Given the description of an element on the screen output the (x, y) to click on. 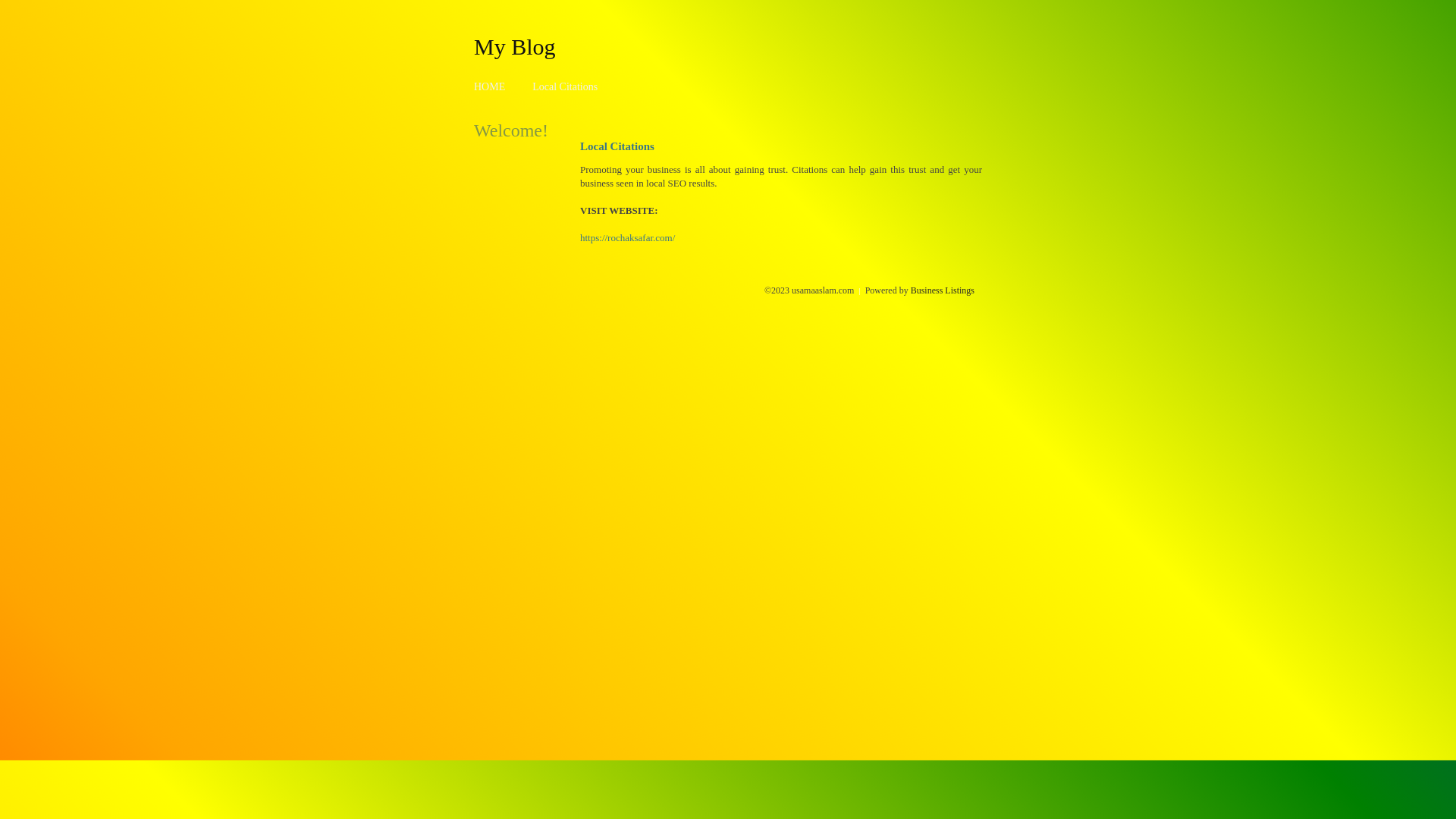
Business Listings Element type: text (942, 290)
HOME Element type: text (489, 86)
Local Citations Element type: text (564, 86)
My Blog Element type: text (514, 46)
https://rochaksafar.com/ Element type: text (627, 237)
